Given the description of an element on the screen output the (x, y) to click on. 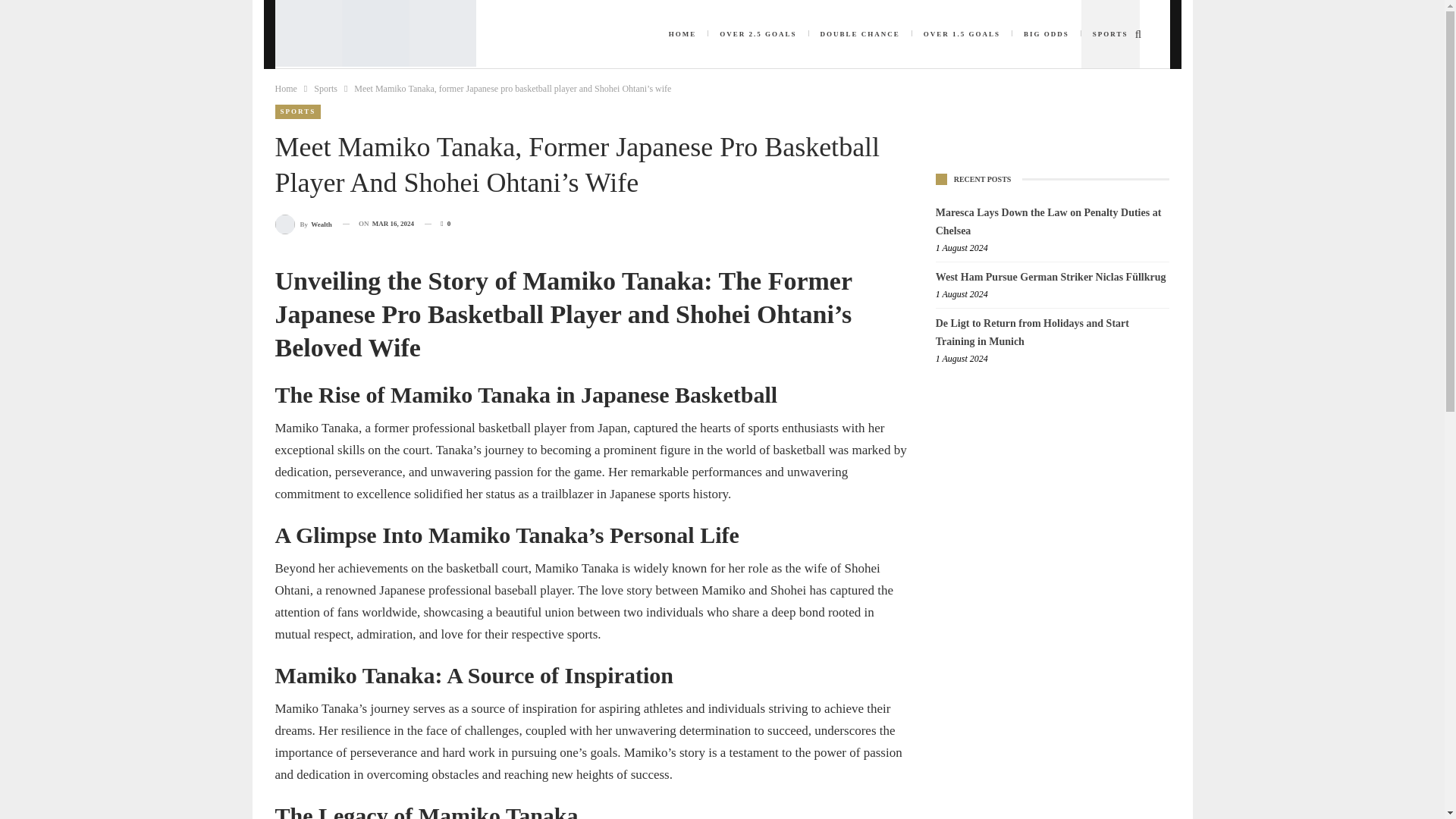
0 (437, 223)
OVER 1.5 GOALS (961, 33)
Home (286, 88)
Browse Author Articles (303, 223)
Maresca Lays Down the Law on Penalty Duties at Chelsea (1048, 221)
OVER 2.5 GOALS (757, 33)
SPORTS (297, 111)
DOUBLE CHANCE (859, 33)
Sports (325, 88)
By Wealth (303, 223)
BIG ODDS (1045, 33)
